Given the description of an element on the screen output the (x, y) to click on. 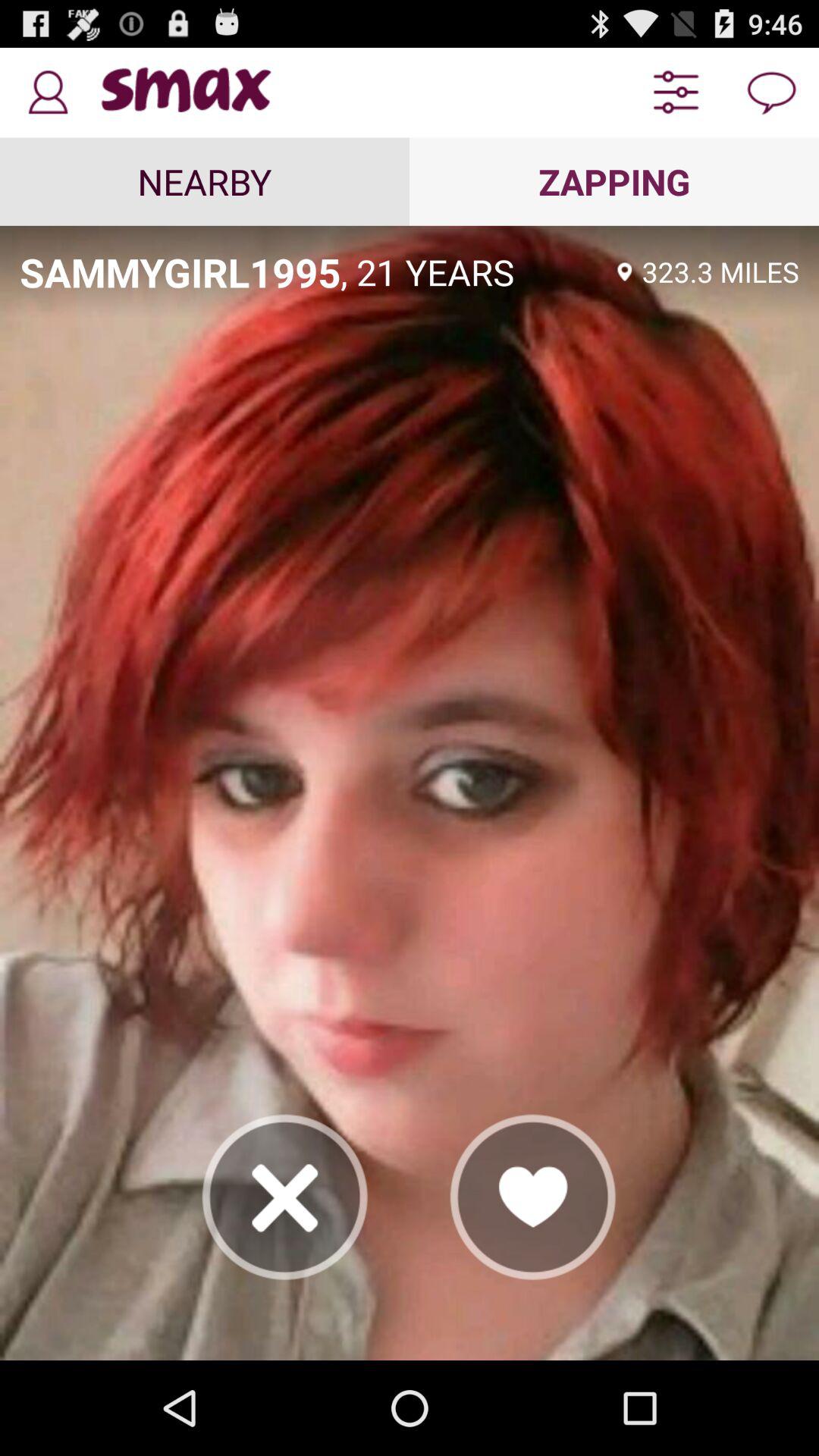
choose the app next to the nearby icon (614, 181)
